Given the description of an element on the screen output the (x, y) to click on. 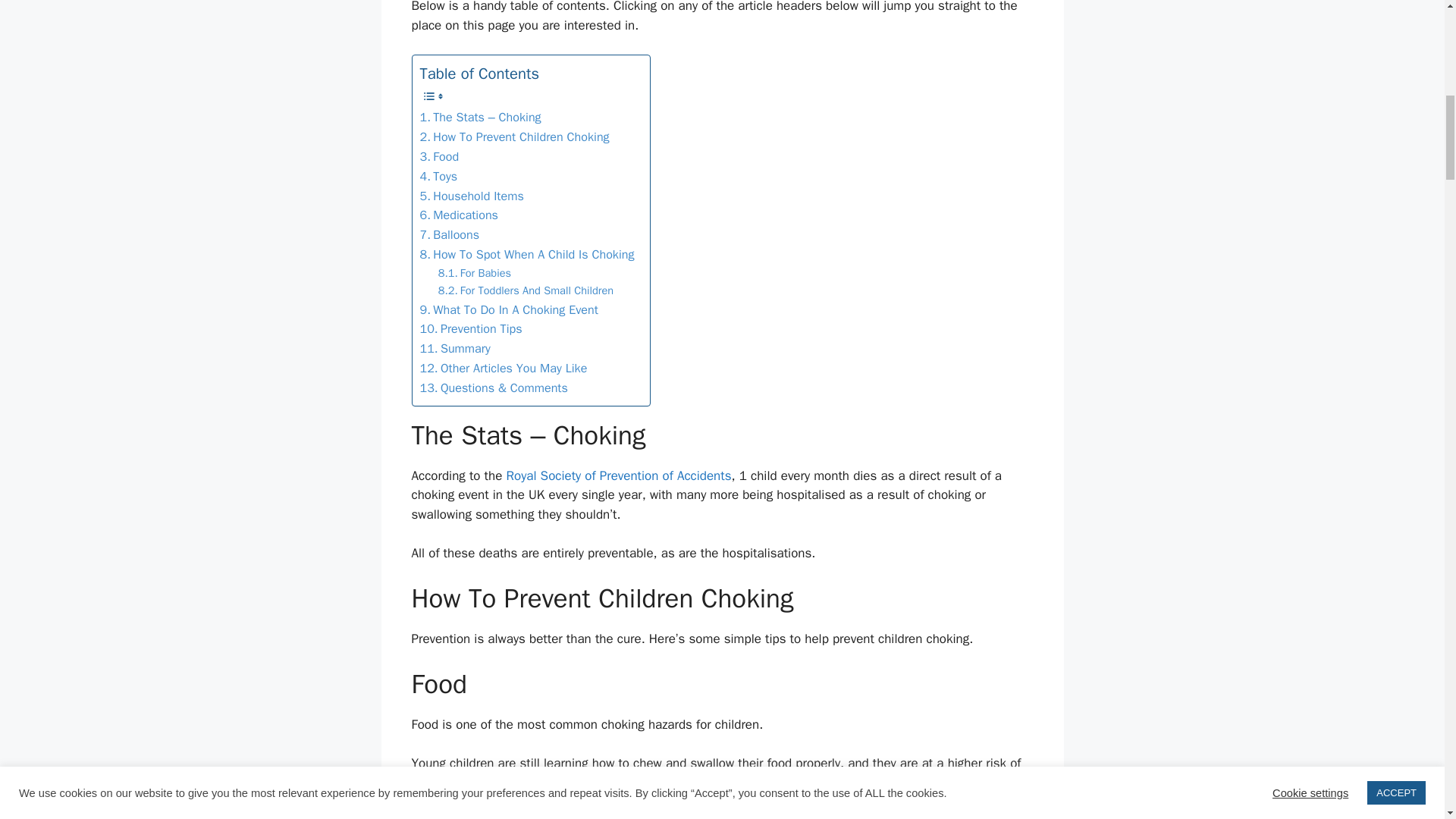
Balloons (450, 234)
Other Articles You May Like (504, 368)
Food (440, 157)
How To Prevent Children Choking (515, 137)
Prevention Tips (471, 329)
Medications (458, 215)
Toys (439, 176)
How To Spot When A Child Is Choking (527, 254)
Toys (439, 176)
For Toddlers And Small Children (525, 290)
For Toddlers And Small Children (525, 290)
Food (440, 157)
Household Items (472, 196)
What To Do In A Choking Event (509, 310)
Household Items (472, 196)
